Given the description of an element on the screen output the (x, y) to click on. 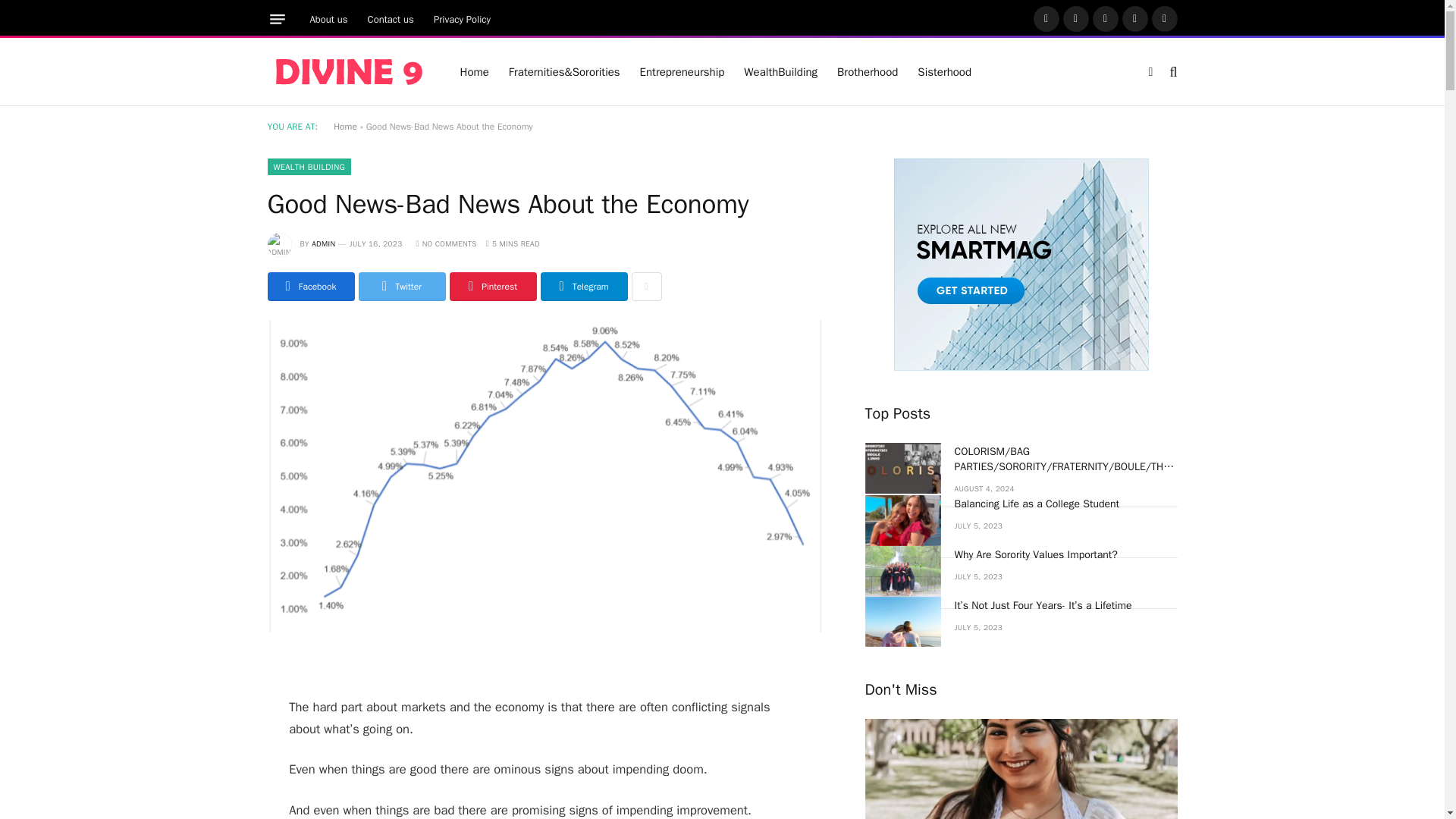
Entrepreneurship (682, 71)
Vimeo (1163, 18)
WealthBuilding (780, 71)
Facebook (1045, 18)
Switch to Dark Design - easier on eyes. (1149, 70)
Share on Pinterest (491, 286)
Twitter (1075, 18)
Share on Twitter (401, 286)
Contact us (390, 19)
Brotherhood (867, 71)
Share on Facebook (309, 286)
Pinterest (1135, 18)
Posts by admin (322, 243)
Instagram (1105, 18)
Sisterhood (944, 71)
